Given the description of an element on the screen output the (x, y) to click on. 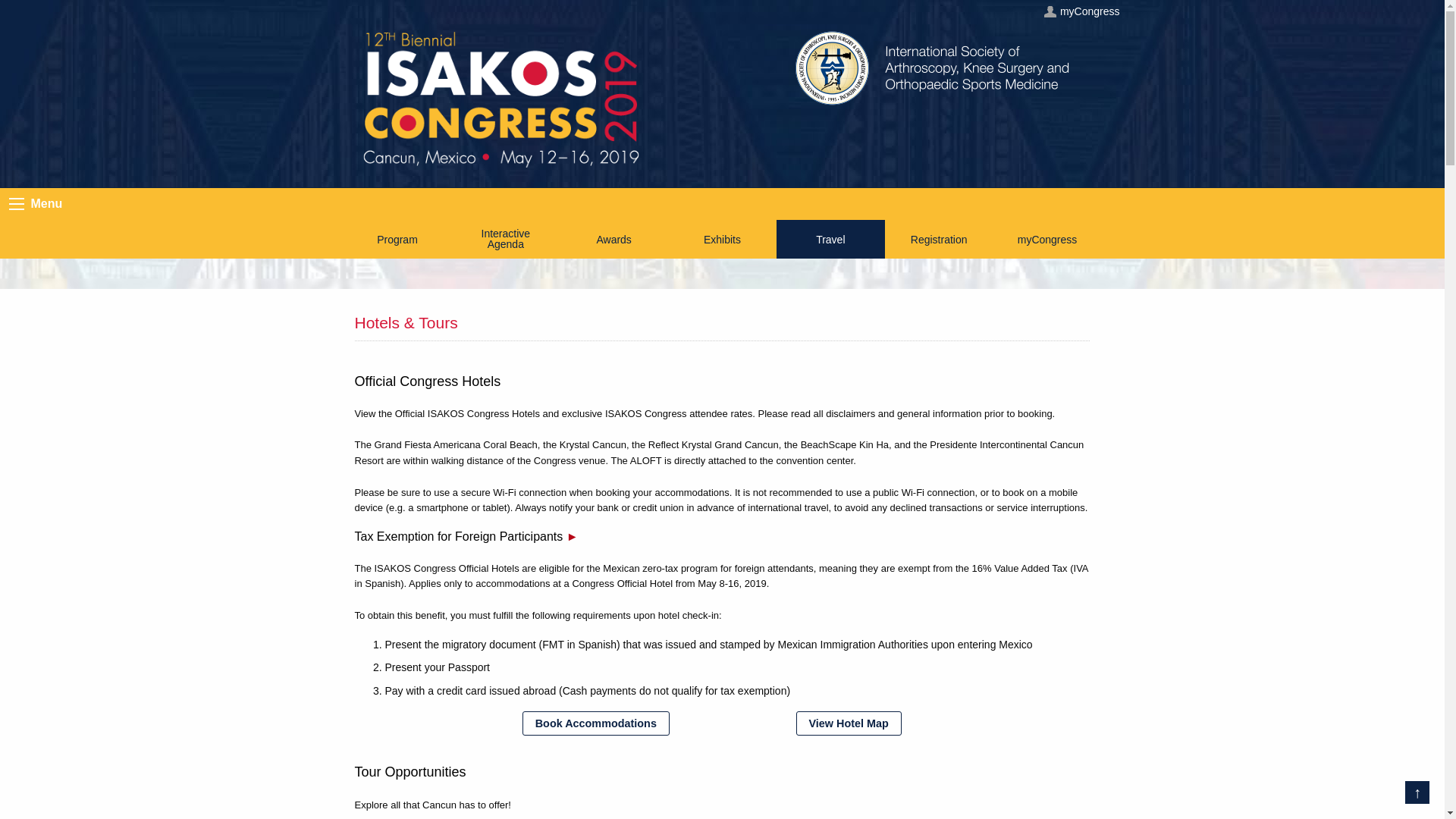
Program (397, 239)
ISAKOS: 2019 Congress in Cancun, Mexico (501, 97)
Exhibits (722, 239)
Travel (830, 239)
myCongress (1081, 10)
Awards (613, 239)
Interactive Agenda (505, 238)
